Given the description of an element on the screen output the (x, y) to click on. 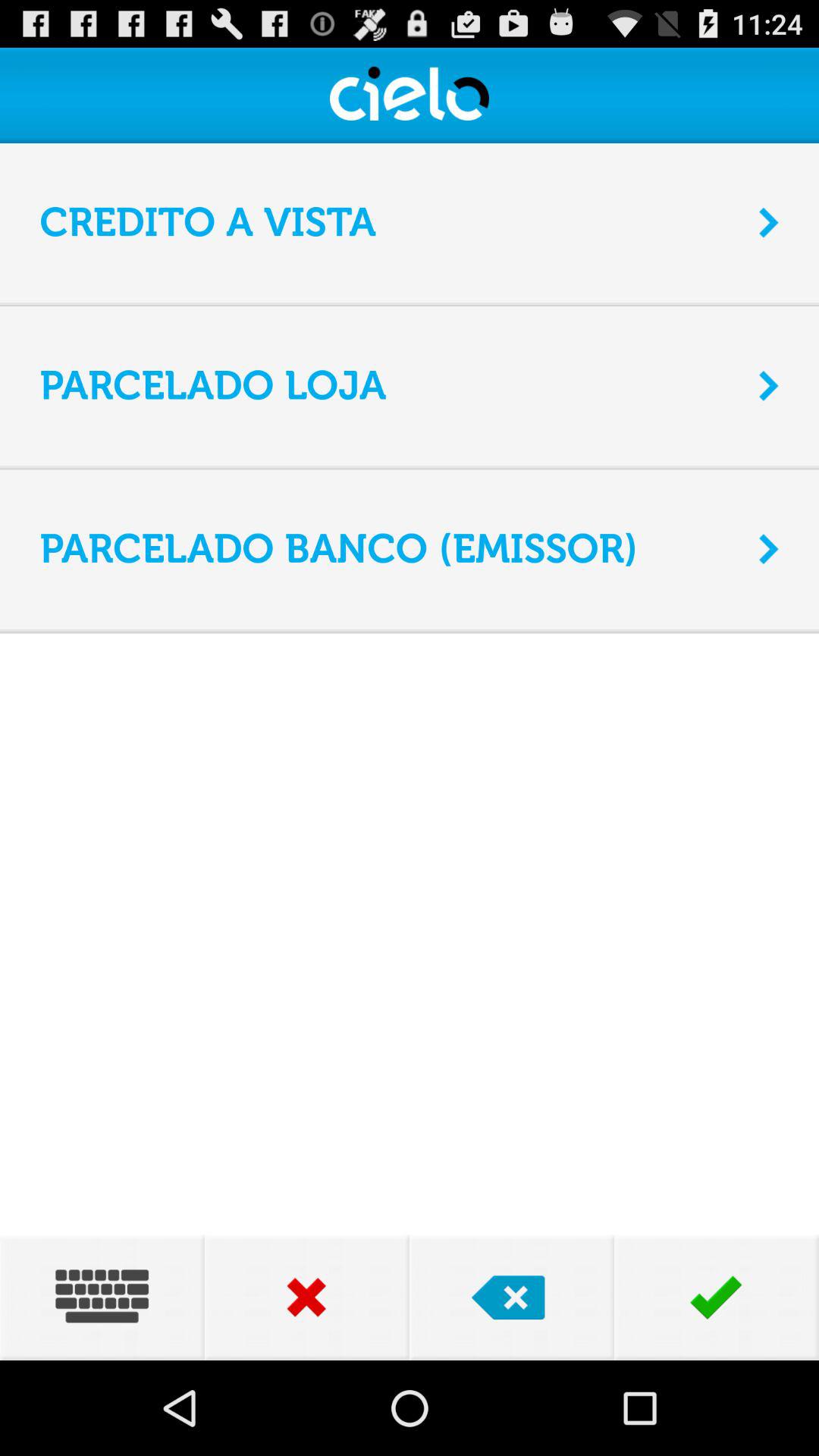
turn on the app next to parcelado loja (769, 385)
